Given the description of an element on the screen output the (x, y) to click on. 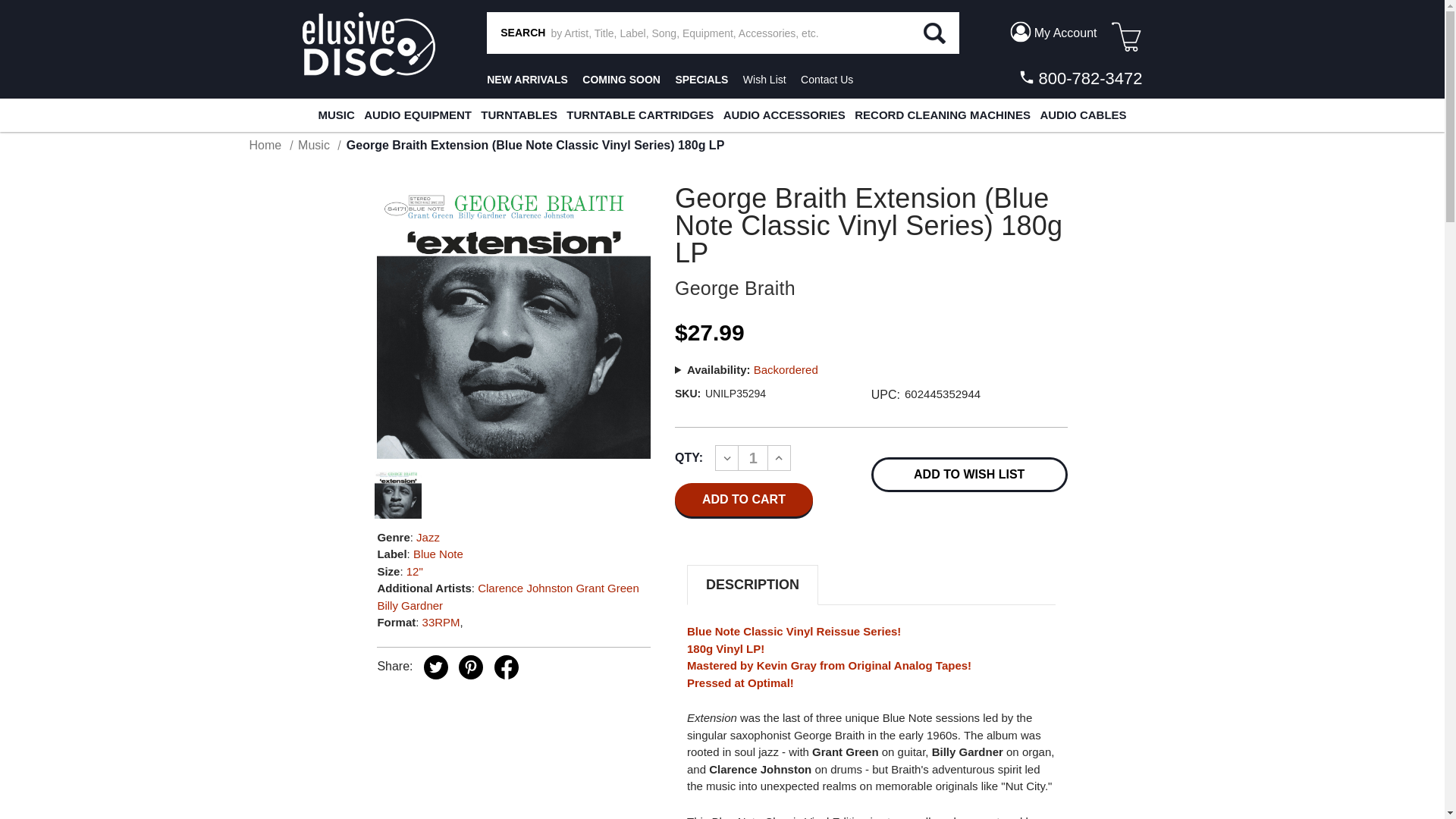
Add to Cart (743, 499)
  My Account (1052, 32)
1 (753, 457)
COMING SOON (621, 79)
Elusive Disc (367, 44)
SPECIALS (701, 79)
800-782-3472 (1077, 78)
Contact Us (826, 79)
NEW ARRIVALS (526, 79)
MUSIC (335, 114)
